Given the description of an element on the screen output the (x, y) to click on. 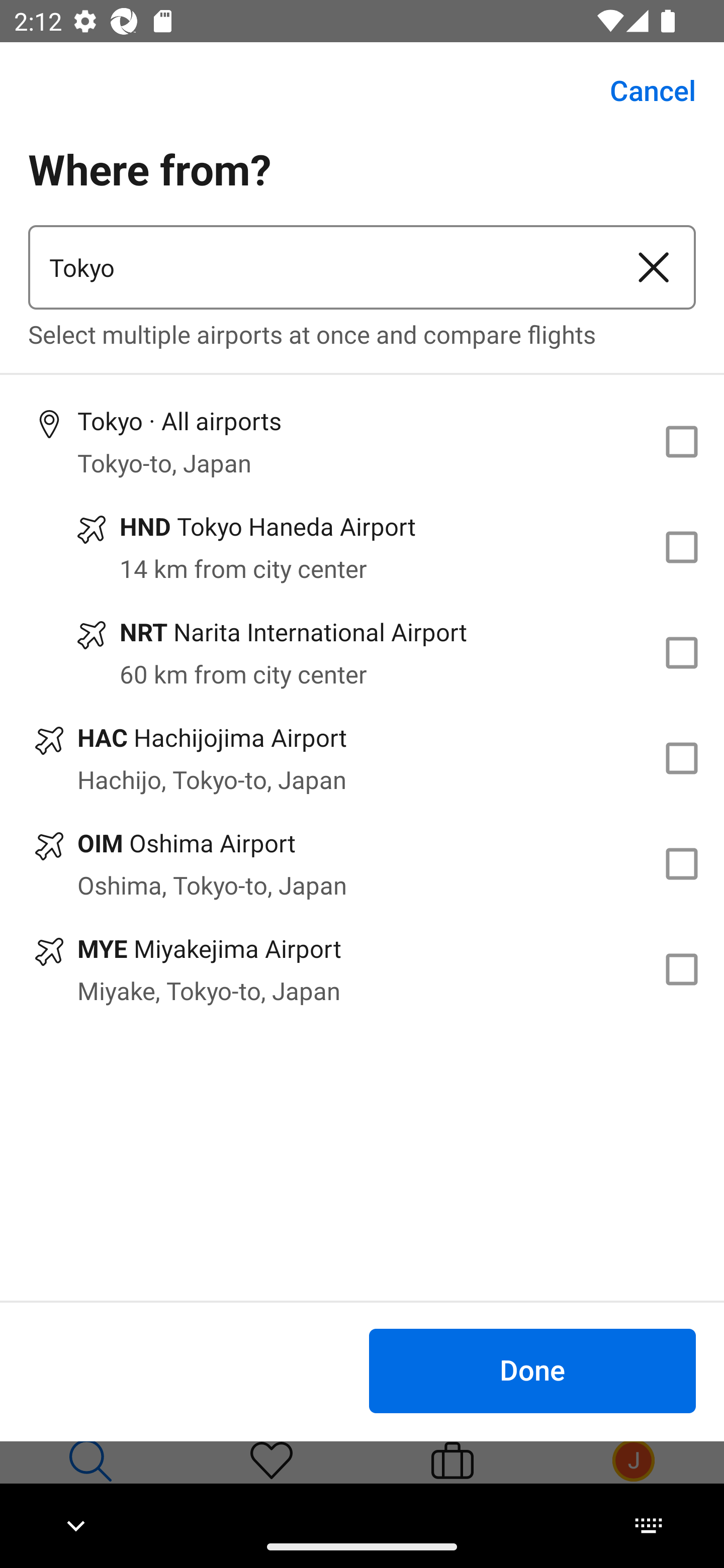
Cancel (641, 90)
Tokyo (319, 266)
Clear airport or city (653, 266)
Tokyo · All airports Tokyo-to, Japan (362, 440)
HND Tokyo Haneda Airport 14 km from city center (362, 547)
HAC Hachijojima Airport Hachijo, Tokyo-to, Japan (362, 757)
OIM Oshima Airport Oshima, Tokyo-to, Japan (362, 863)
MYE Miyakejima Airport Miyake, Tokyo-to, Japan (362, 969)
Done (532, 1370)
